Given the description of an element on the screen output the (x, y) to click on. 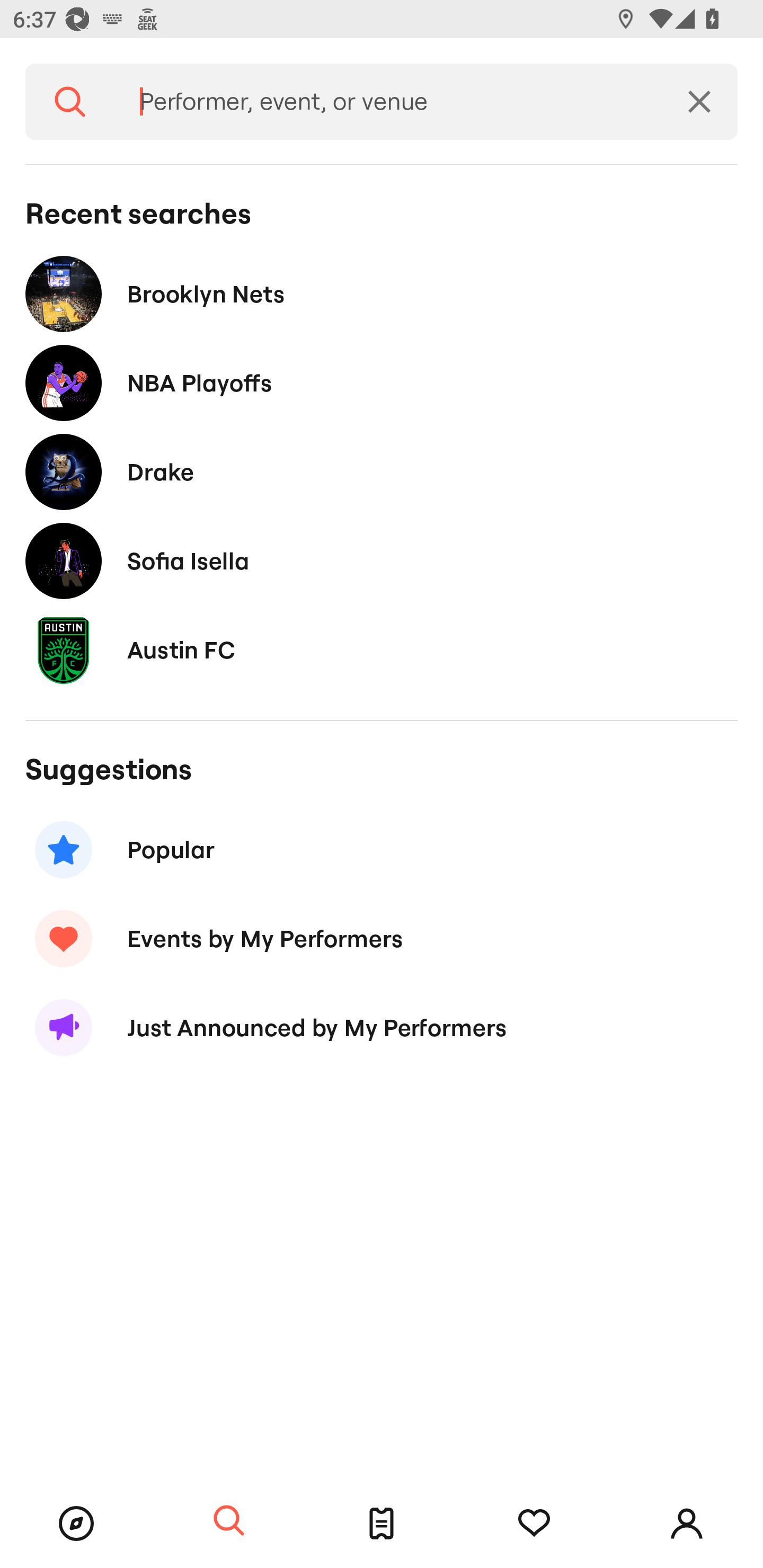
Search (69, 101)
Performer, event, or venue (387, 101)
Clear (699, 101)
Brooklyn Nets (381, 293)
NBA Playoffs (381, 383)
Drake (381, 471)
Sofia Isella (381, 560)
Austin FC (381, 649)
Popular (381, 849)
Events by My Performers (381, 938)
Just Announced by My Performers (381, 1027)
Browse (76, 1523)
Search (228, 1521)
Tickets (381, 1523)
Tracking (533, 1523)
Account (686, 1523)
